Given the description of an element on the screen output the (x, y) to click on. 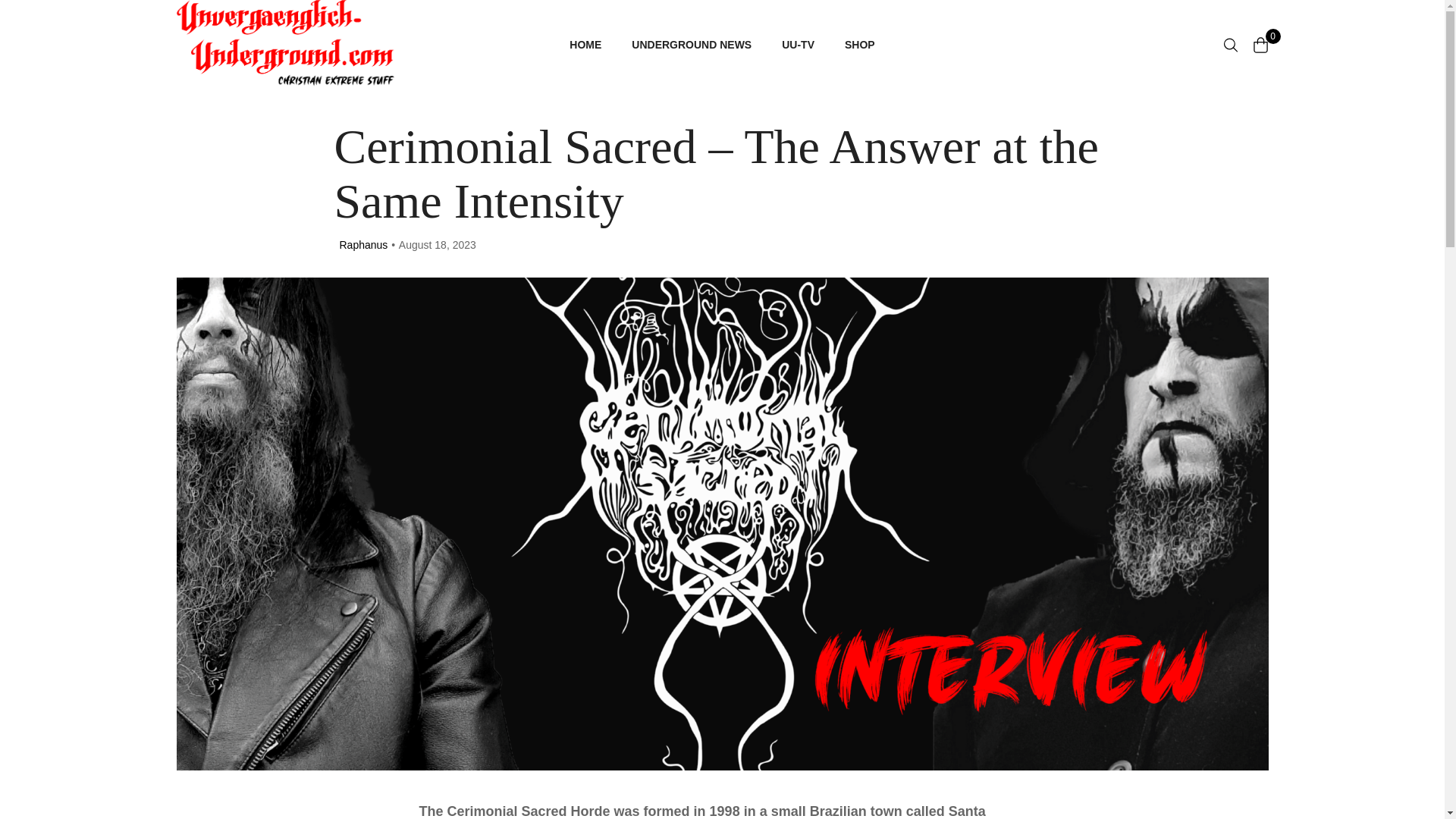
UNDERGROUND NEWS (691, 44)
Raphanus (363, 244)
